Given the description of an element on the screen output the (x, y) to click on. 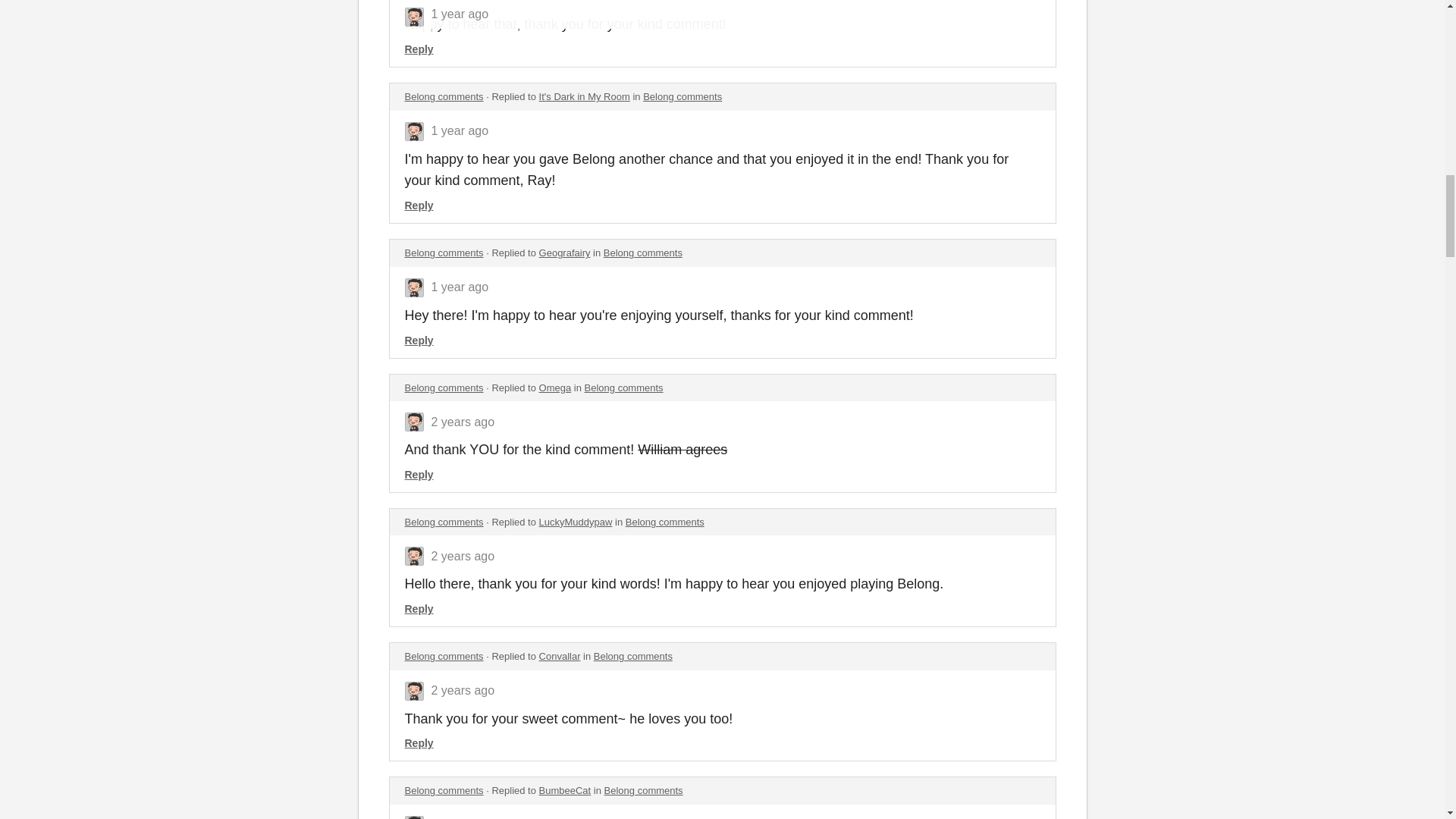
2022-05-18 04:34:37 (462, 421)
2022-09-19 08:30:56 (458, 1)
2022-05-18 04:29:51 (462, 555)
2022-02-28 01:21:00 (462, 818)
2022-04-22 00:08:24 (462, 689)
2022-08-12 01:43:17 (458, 286)
2022-08-16 00:57:13 (458, 130)
